Given the description of an element on the screen output the (x, y) to click on. 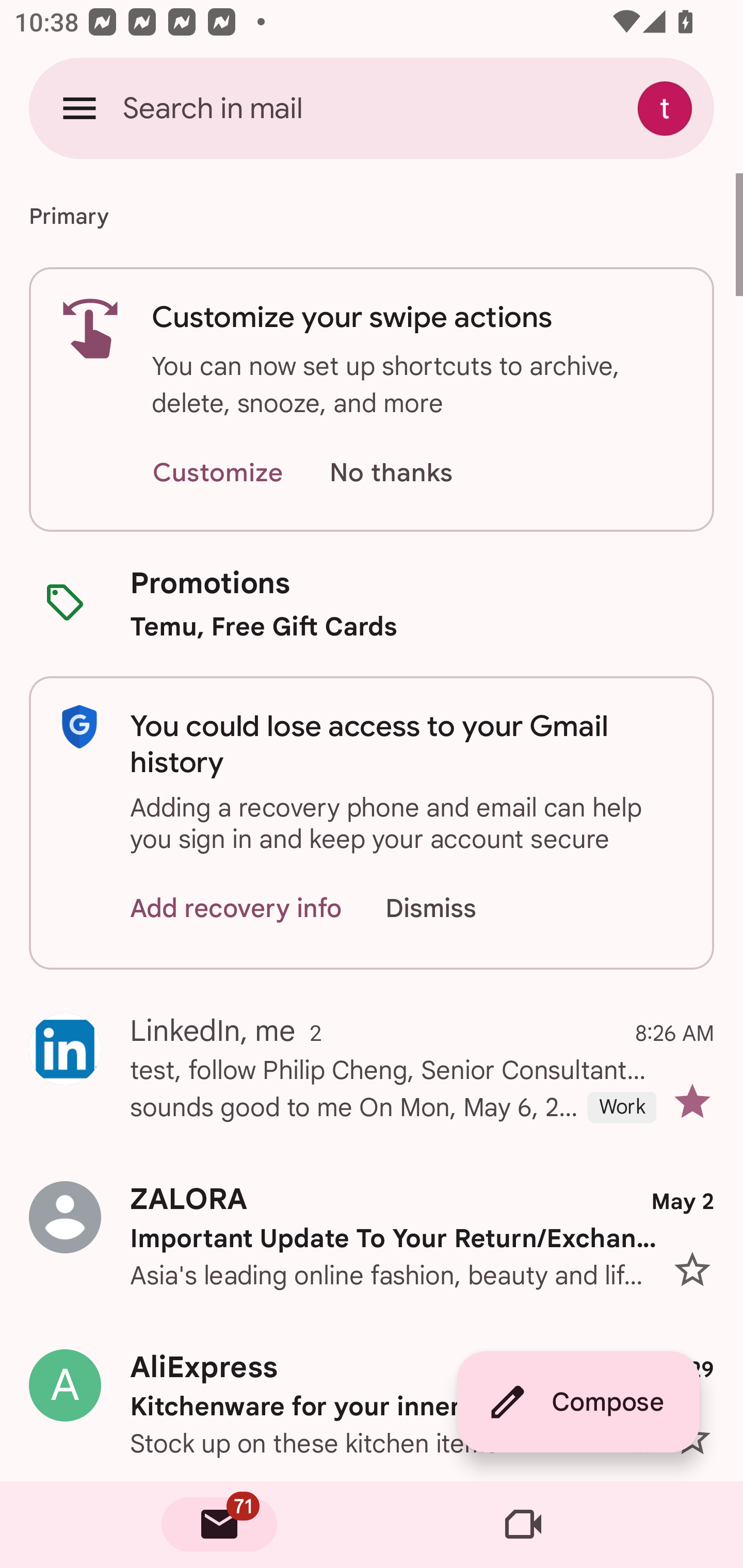
Open navigation drawer (79, 108)
Customize (217, 473)
No thanks (390, 473)
Promotions Temu, Free Gift Cards (371, 603)
Add recovery info (235, 908)
Dismiss (449, 908)
Compose (577, 1401)
Meet (523, 1524)
